Given the description of an element on the screen output the (x, y) to click on. 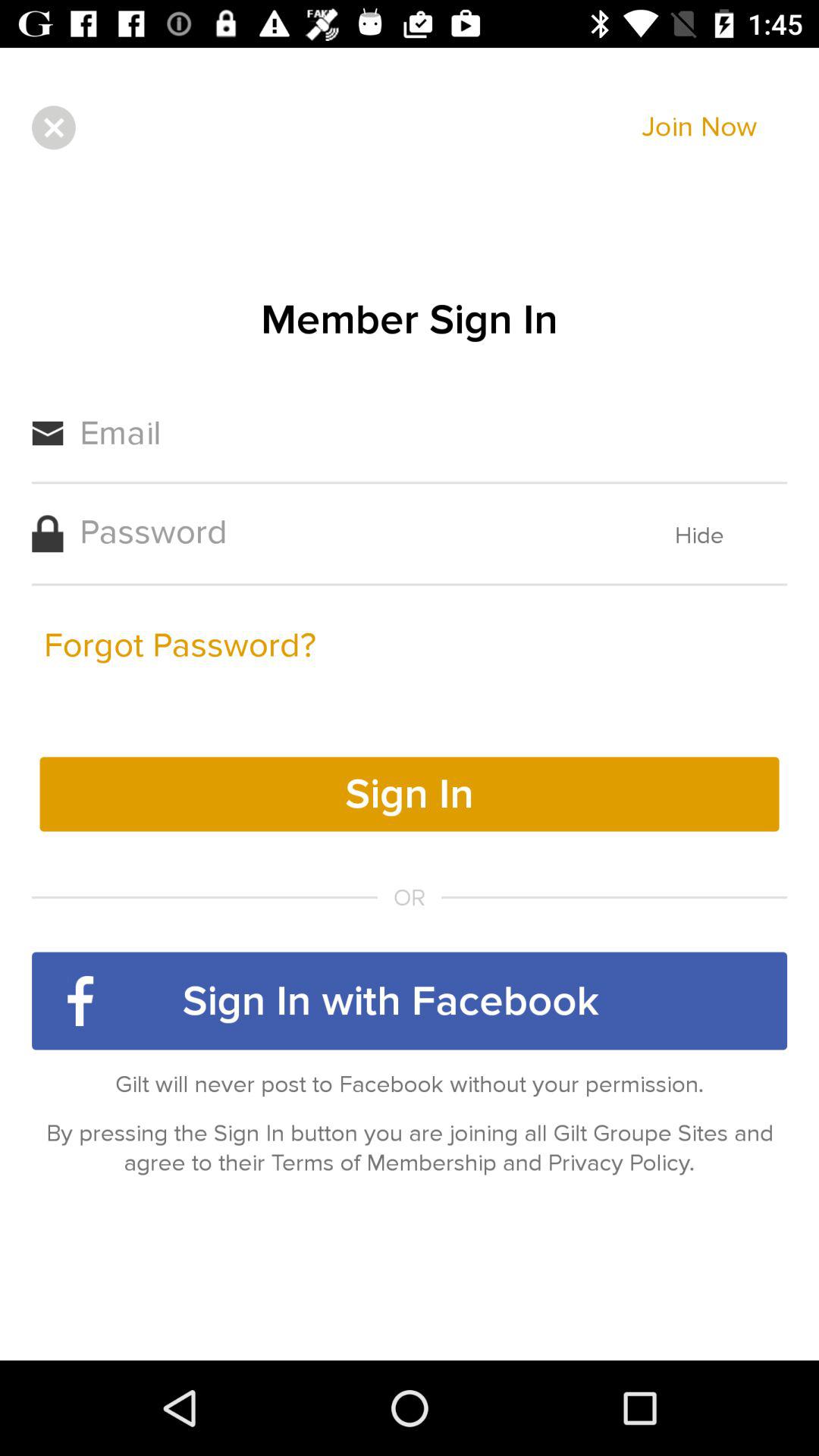
turn off the icon above member sign in icon (53, 127)
